Given the description of an element on the screen output the (x, y) to click on. 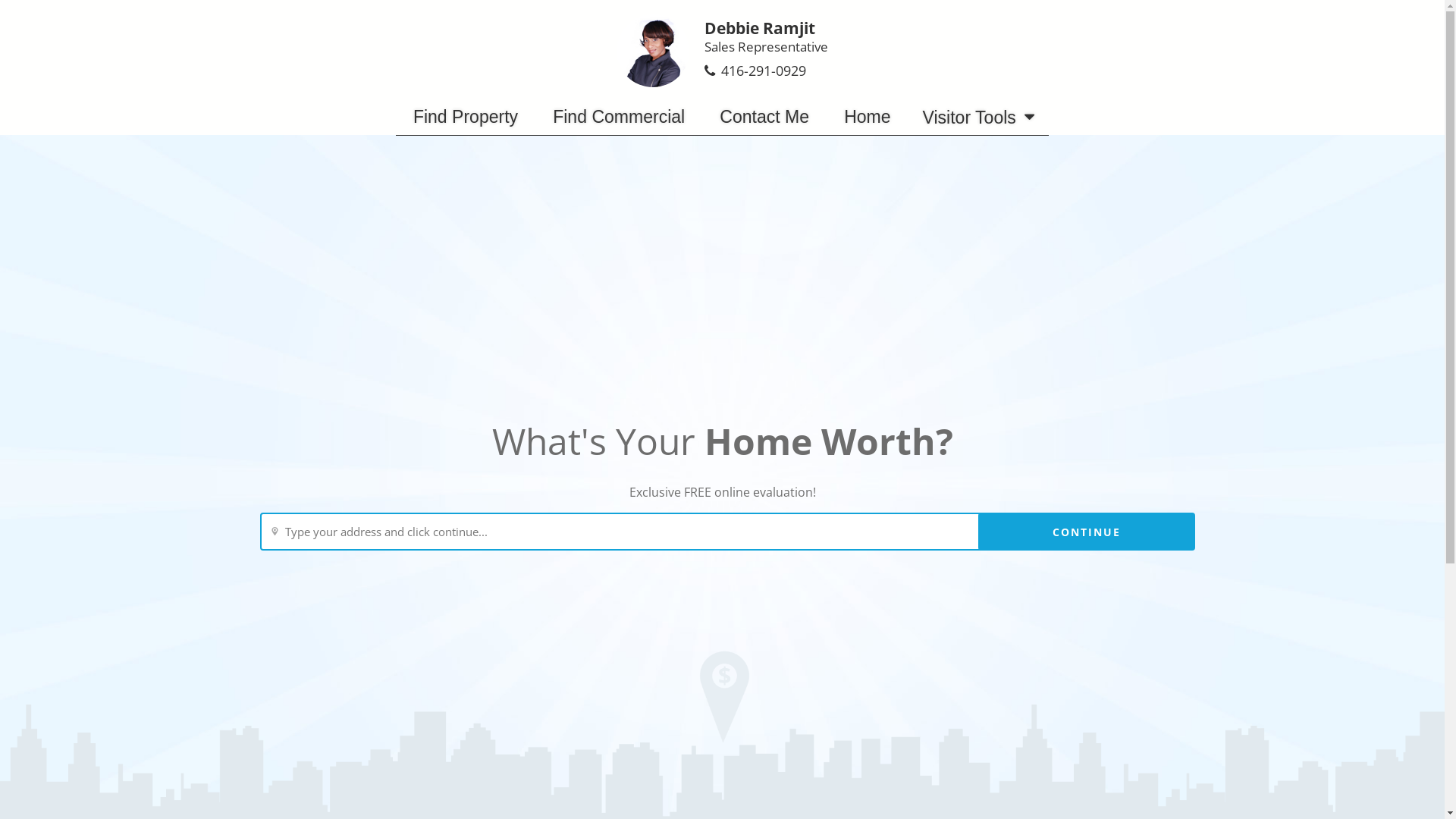
Visitor Tools Element type: text (977, 117)
Contact Me Element type: text (764, 116)
Find Property Element type: text (465, 116)
Find Commercial Element type: text (618, 116)
416-291-0929 Element type: text (762, 70)
Home Element type: text (867, 116)
